Given the description of an element on the screen output the (x, y) to click on. 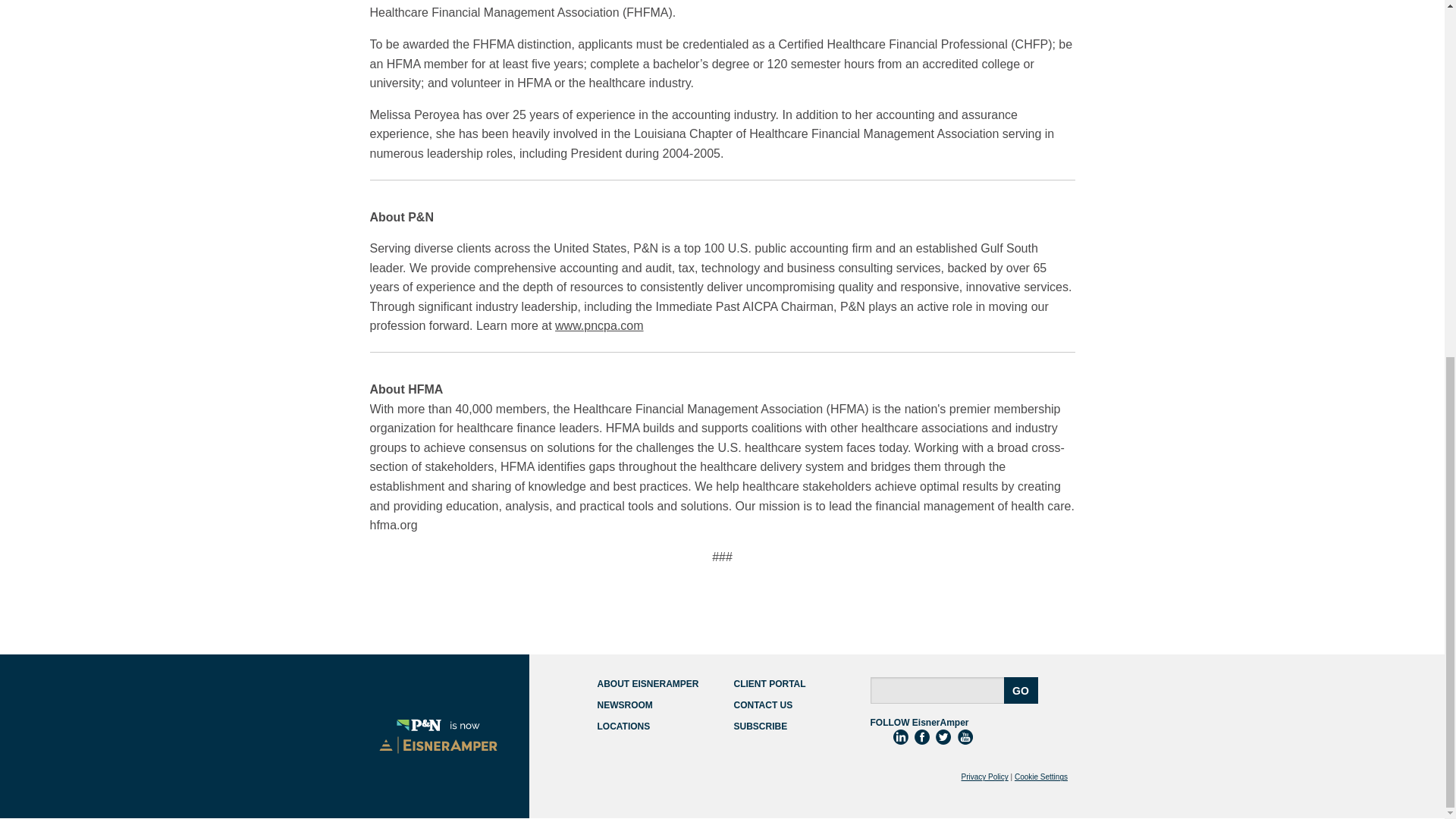
Go (1021, 690)
